Given the description of an element on the screen output the (x, y) to click on. 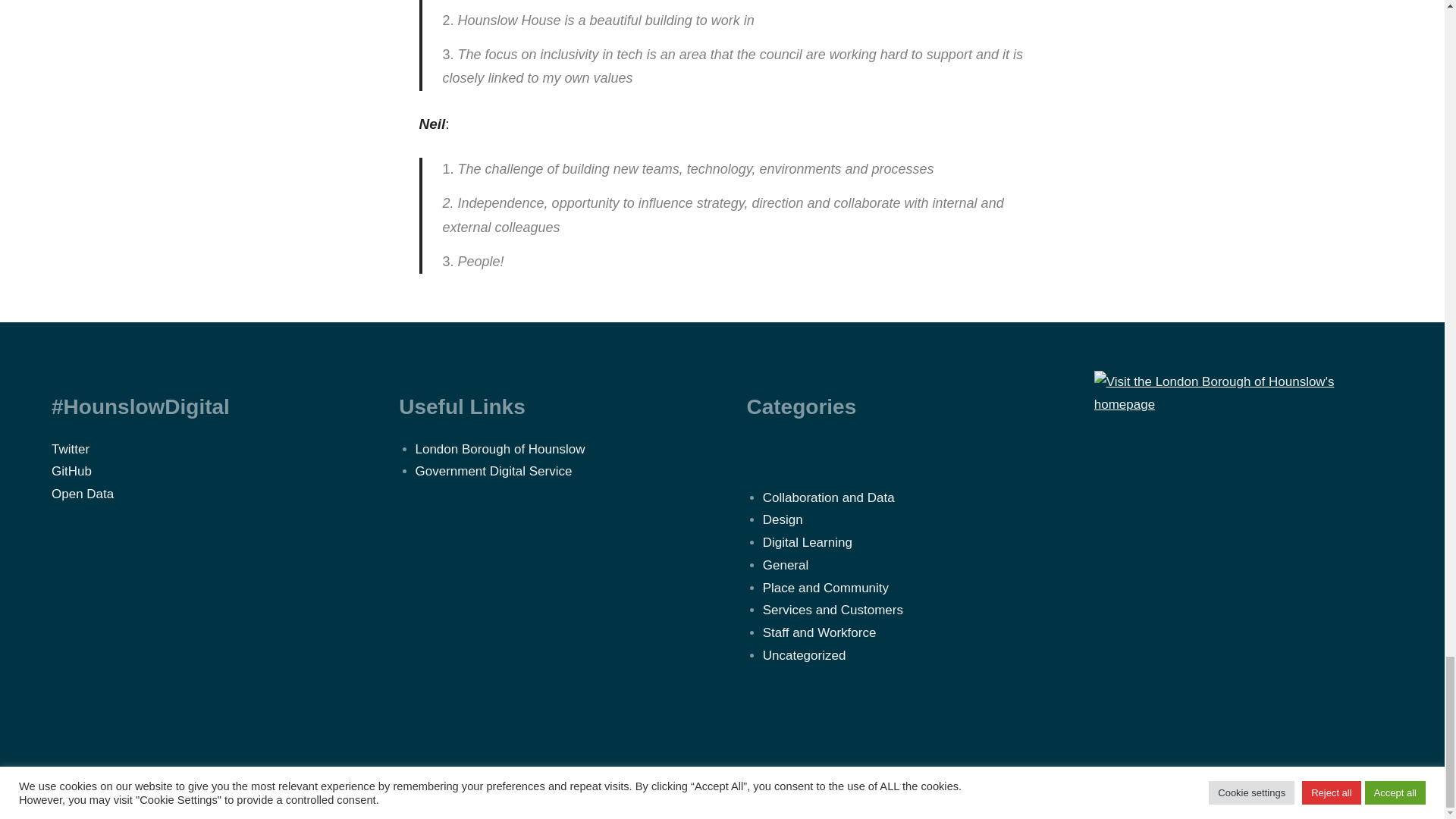
Collaboration and Data (828, 497)
Services and Customers (832, 609)
Staff and Workforce (819, 632)
General (785, 564)
Design (782, 519)
GitHub (70, 471)
Digital Learning (806, 542)
Uncategorized (803, 655)
Open Data (81, 493)
Twitter (69, 449)
London Borough of Hounslow (499, 449)
Government Digital Service (493, 471)
Place and Community (825, 587)
